Given the description of an element on the screen output the (x, y) to click on. 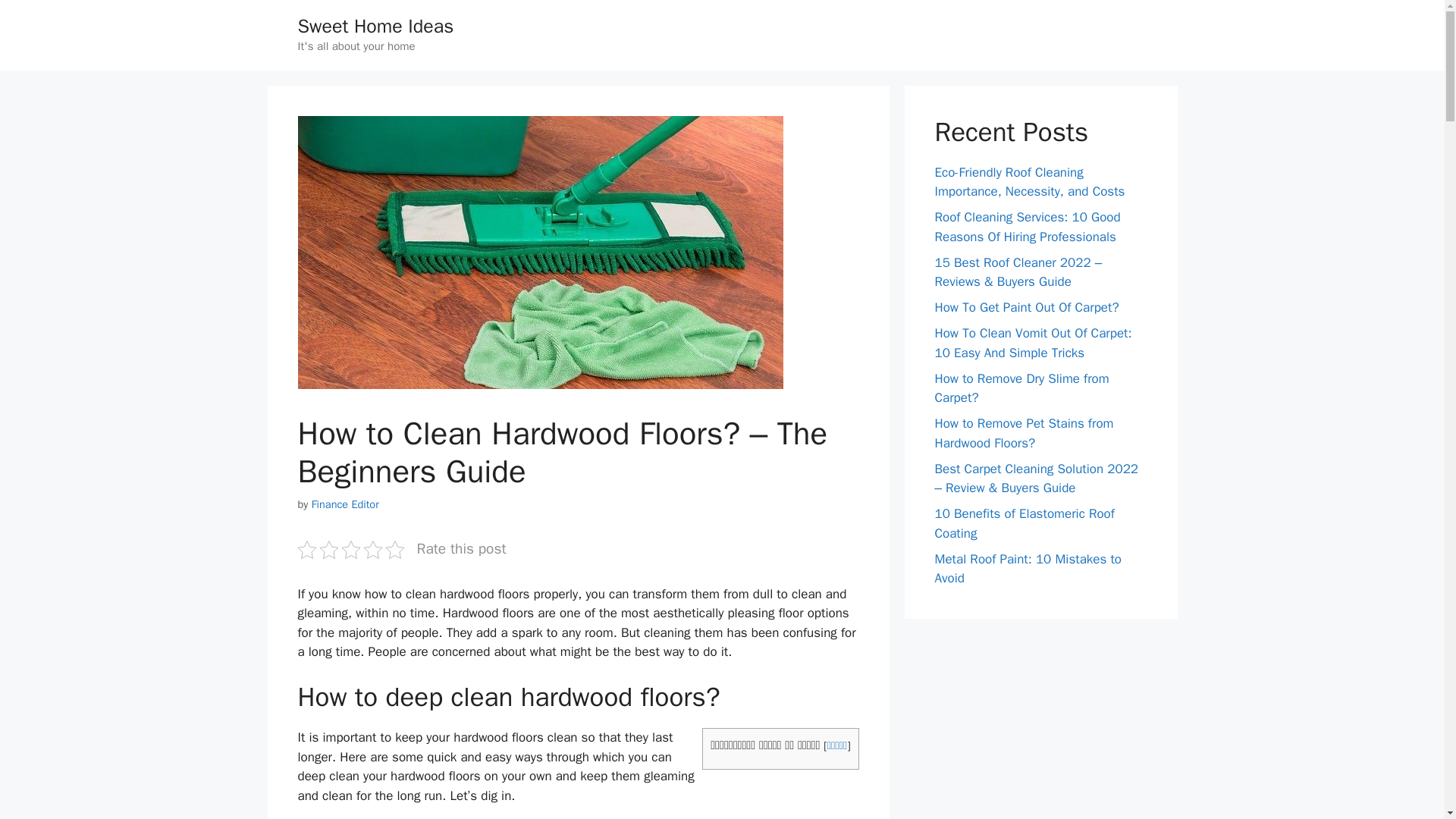
How to Remove Dry Slime from Carpet? (1021, 387)
10 Benefits of Elastomeric Roof Coating (1023, 523)
Finance Editor (344, 504)
How to Remove Pet Stains from Hardwood Floors? (1023, 433)
Eco-Friendly Roof Cleaning Importance, Necessity, and Costs (1029, 181)
Sweet Home Ideas (374, 25)
How To Clean Vomit Out Of Carpet: 10 Easy And Simple Tricks (1032, 343)
How To Get Paint Out Of Carpet? (1026, 307)
Metal Roof Paint: 10 Mistakes to Avoid (1027, 568)
